Given the description of an element on the screen output the (x, y) to click on. 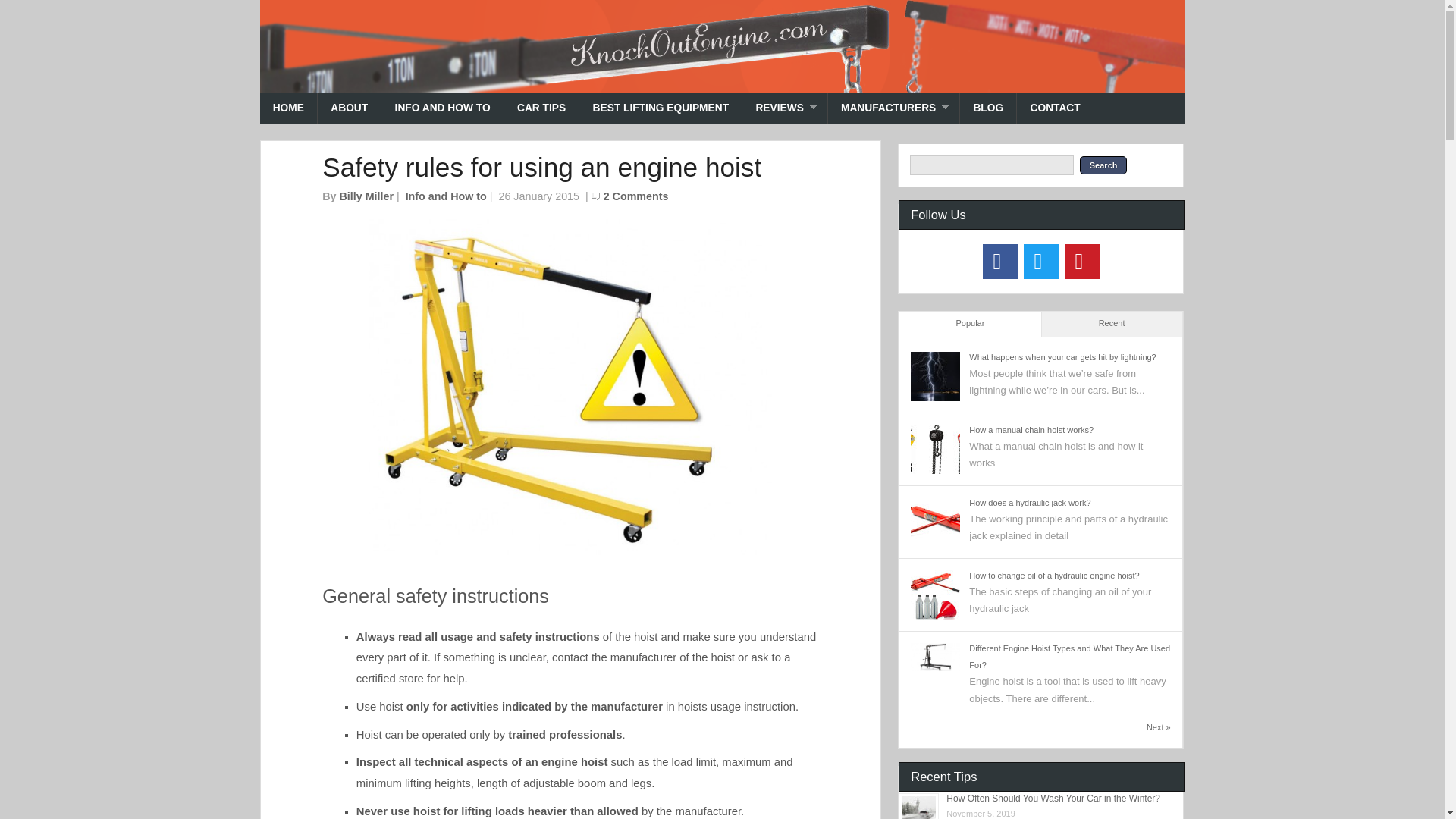
HOME (288, 107)
CONTACT (1055, 107)
CAR TIPS (541, 107)
INFO AND HOW TO (442, 107)
BLOG (987, 107)
Search (1103, 165)
Posts by Billy Miller (366, 196)
BEST LIFTING EQUIPMENT (660, 107)
Pinterest (1081, 261)
Facebook (999, 261)
2 Comments (636, 196)
Twitter (1040, 261)
Info and How to (446, 196)
ABOUT (349, 107)
Billy Miller (366, 196)
